Given the description of an element on the screen output the (x, y) to click on. 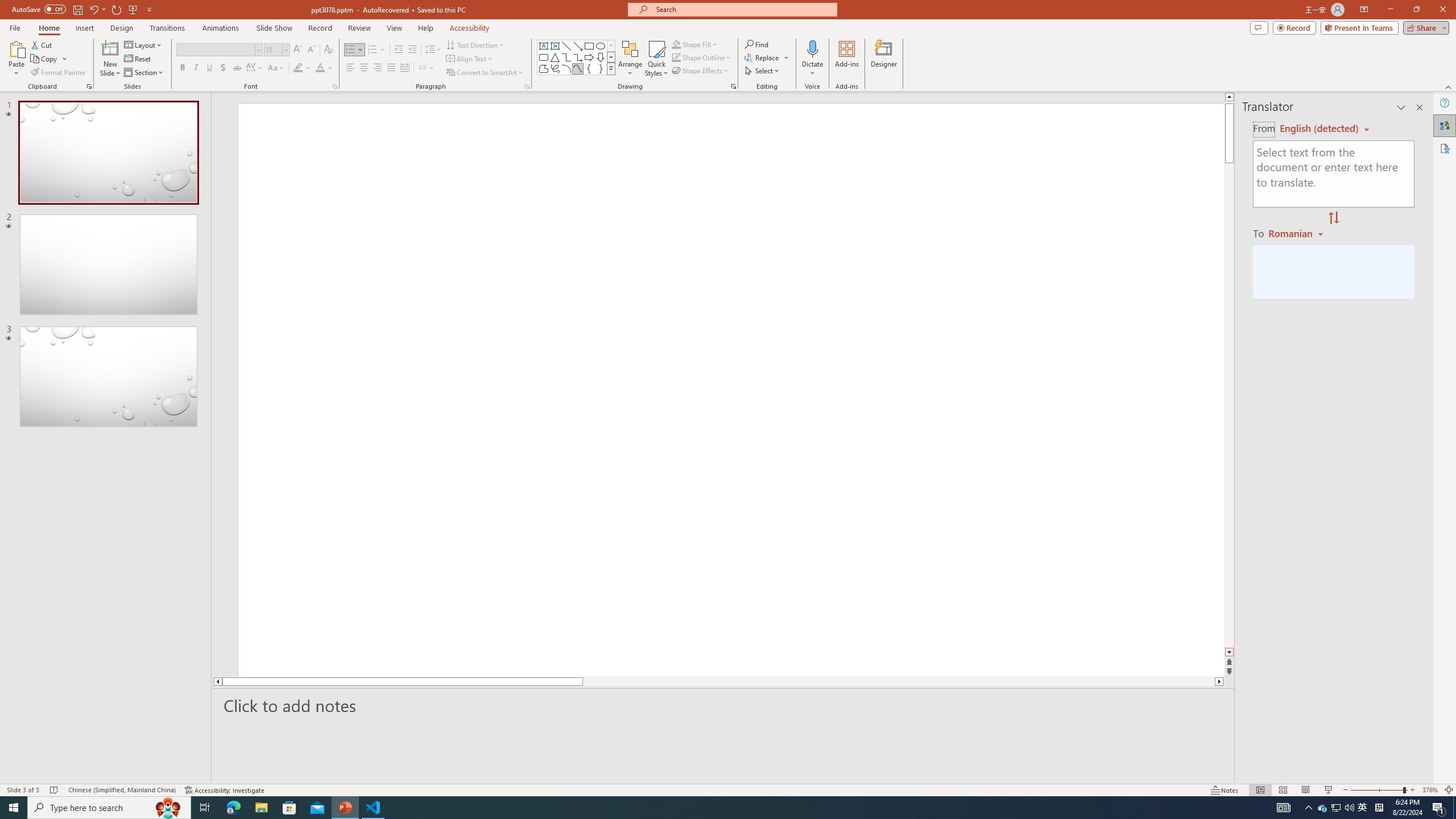
Dictate (812, 58)
Align Left (349, 67)
Slide (108, 376)
Copy (45, 58)
Align Text (470, 58)
Justify (390, 67)
Convert to SmartArt (485, 72)
Shapes (611, 68)
Row Down (611, 56)
Line Spacing (433, 49)
Close pane (1419, 107)
